Given the description of an element on the screen output the (x, y) to click on. 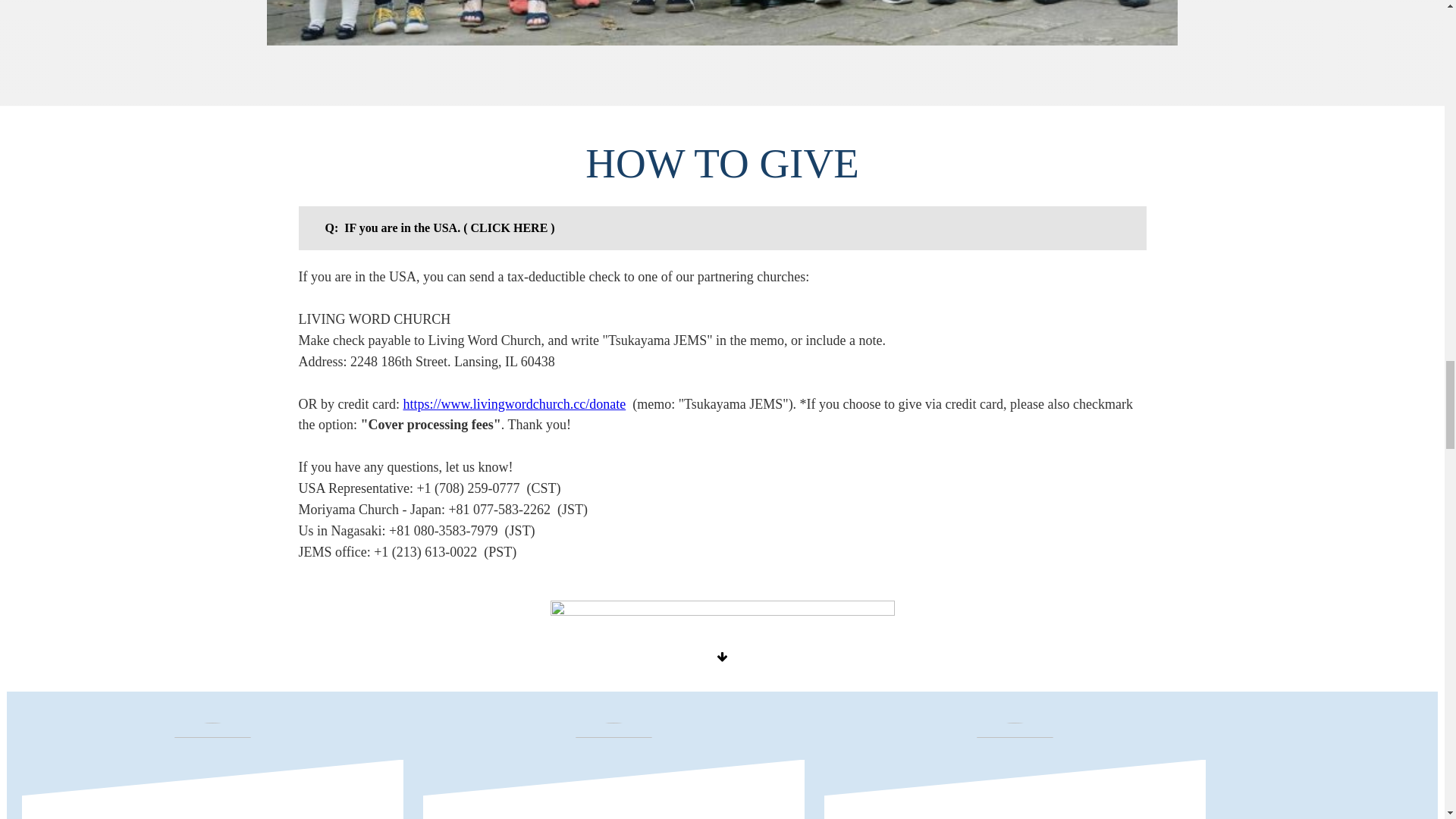
Screen Shot 2022-06-01 at 15.08.57 (1014, 770)
Screen Shot 2022-07-12 at 10.39.20 (212, 770)
famili pic small (721, 22)
Screen Shot 2023-07-26 at 15.35.02 (722, 620)
Masami Nagasaki 2022 (613, 770)
